Given the description of an element on the screen output the (x, y) to click on. 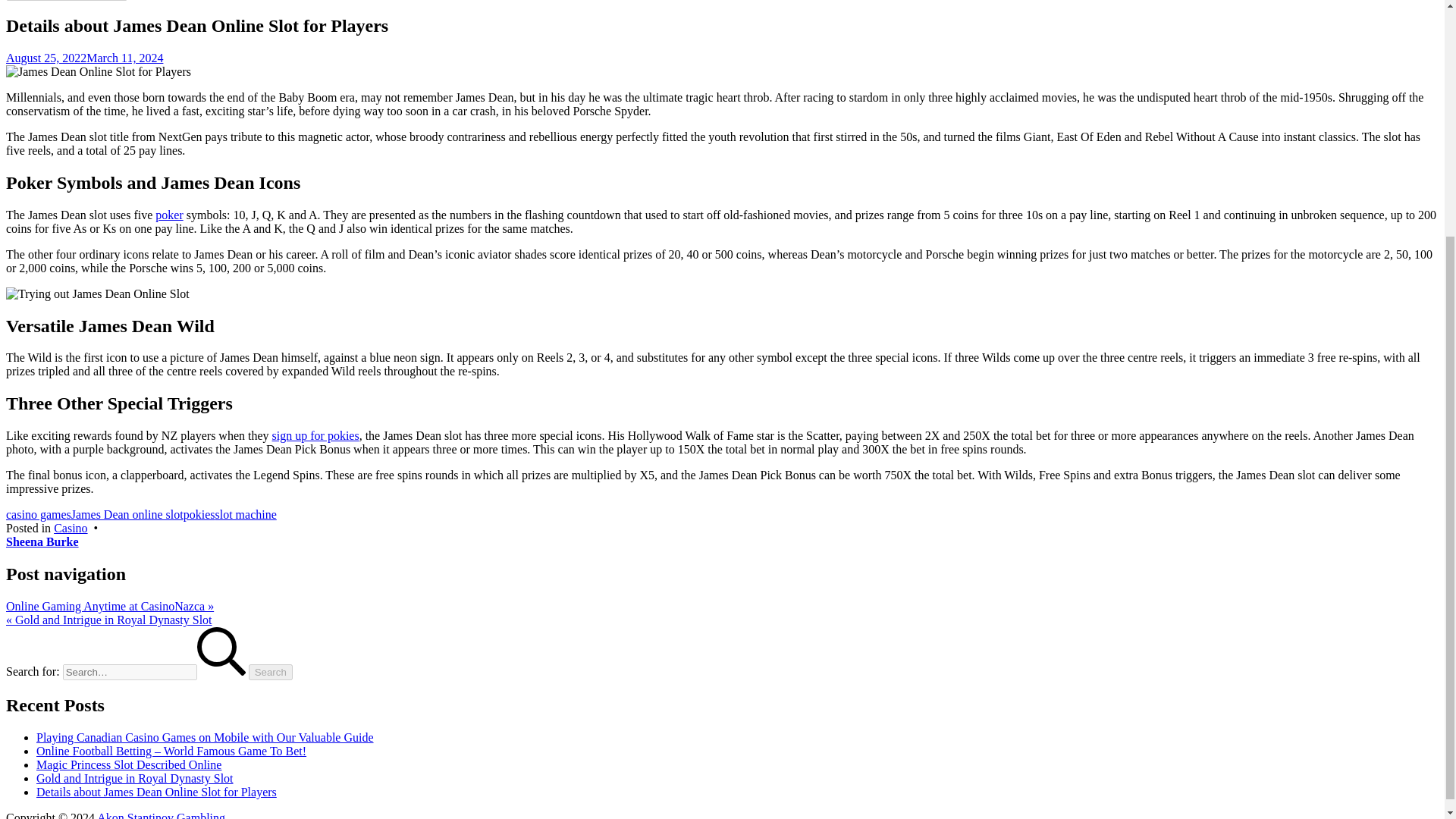
Sheena Burke (41, 541)
pokies (199, 513)
Posts by Sheena Burke (41, 541)
Search (270, 672)
Gold and Intrigue in Royal Dynasty Slot (134, 778)
Search (270, 672)
slot machine (245, 513)
Search (270, 672)
Casino (70, 527)
August 25, 2022March 11, 2024 (84, 57)
casino games (38, 513)
Magic Princess Slot Described Online (128, 764)
sign up for pokies (315, 435)
